Given the description of an element on the screen output the (x, y) to click on. 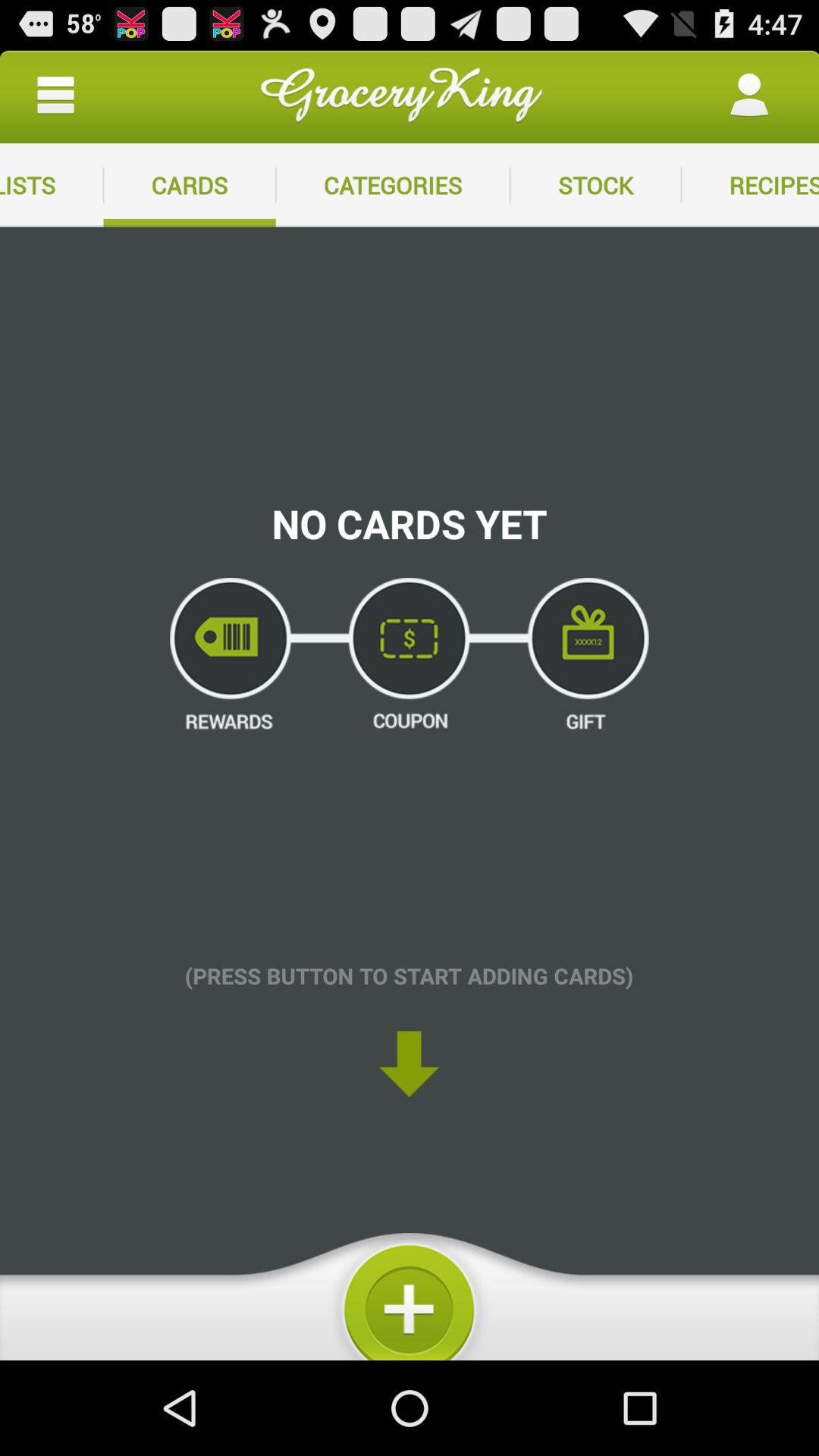
turn off the icon above no cards yet (392, 184)
